Given the description of an element on the screen output the (x, y) to click on. 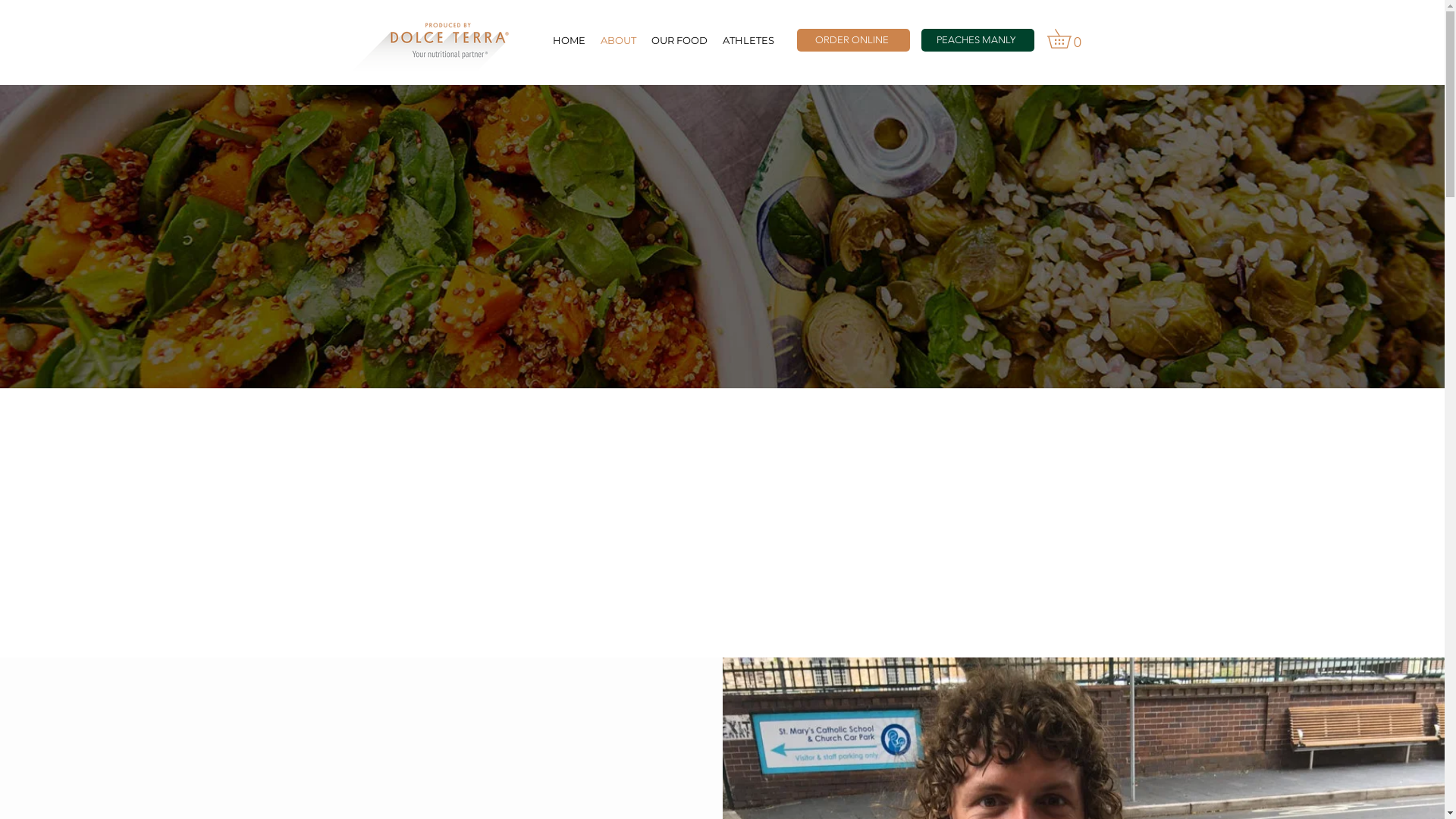
HOME Element type: text (568, 39)
ABOUT Element type: text (618, 39)
ORDER ONLINE Element type: text (852, 39)
PEACHES MANLY Element type: text (976, 39)
0 Element type: text (1067, 38)
ATHLETES Element type: text (747, 39)
OUR FOOD Element type: text (678, 39)
